Given the description of an element on the screen output the (x, y) to click on. 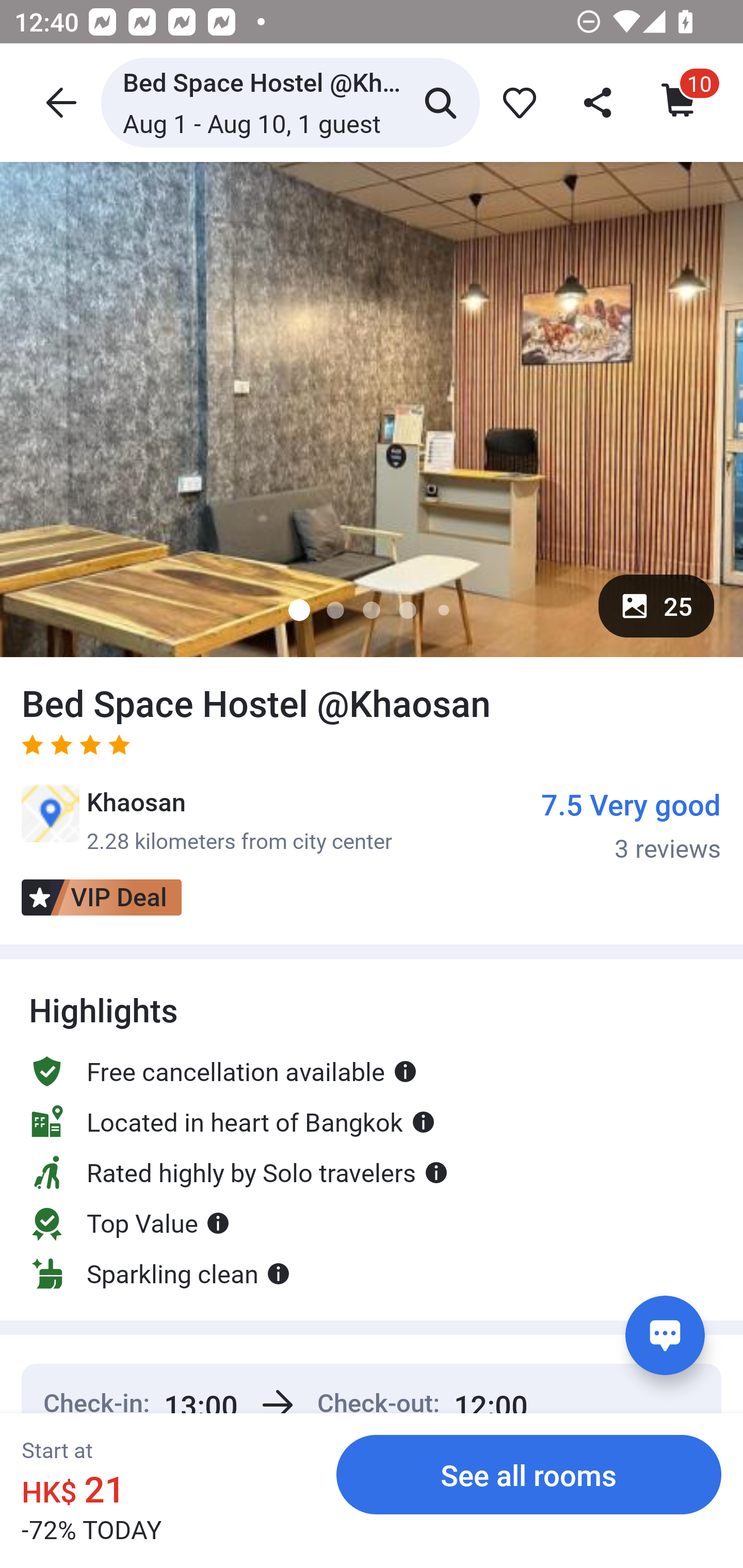
header icon (59, 102)
favorite_icon 0dbe6efb (515, 102)
share_header_icon (598, 102)
Cart icon cart_item_count 10 (679, 102)
image (371, 408)
25 (656, 605)
Khaosan 2.28 kilometers from city center (206, 819)
7.5 Very good 3 reviews (630, 824)
Rated highly by Solo travelers (238, 1171)
Sparkling clean (159, 1273)
See all rooms (528, 1474)
